Given the description of an element on the screen output the (x, y) to click on. 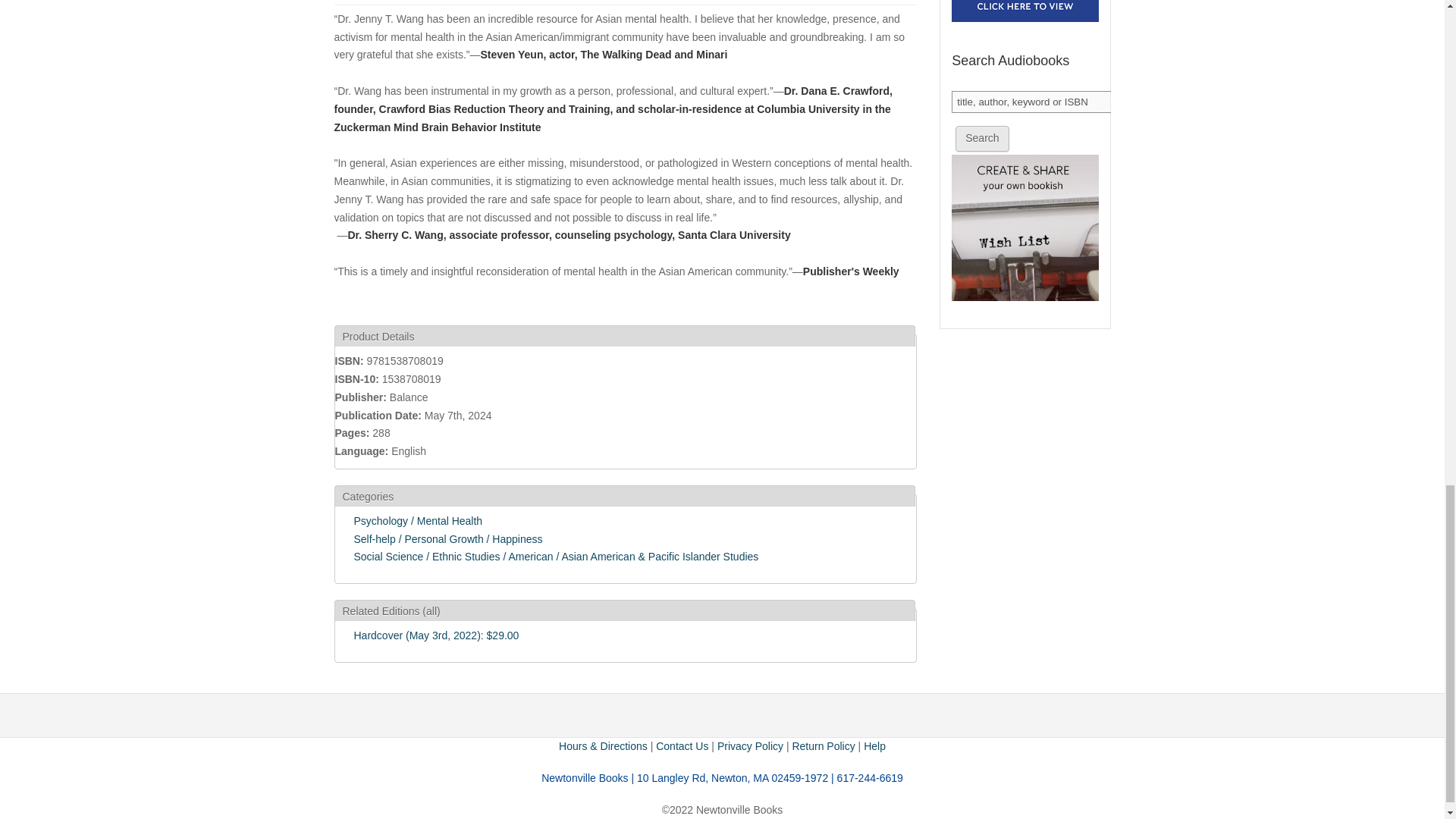
title, author, keyword or ISBN (1033, 101)
Enter title, author, keyword or ISBN. (1033, 101)
Search (982, 138)
